Given the description of an element on the screen output the (x, y) to click on. 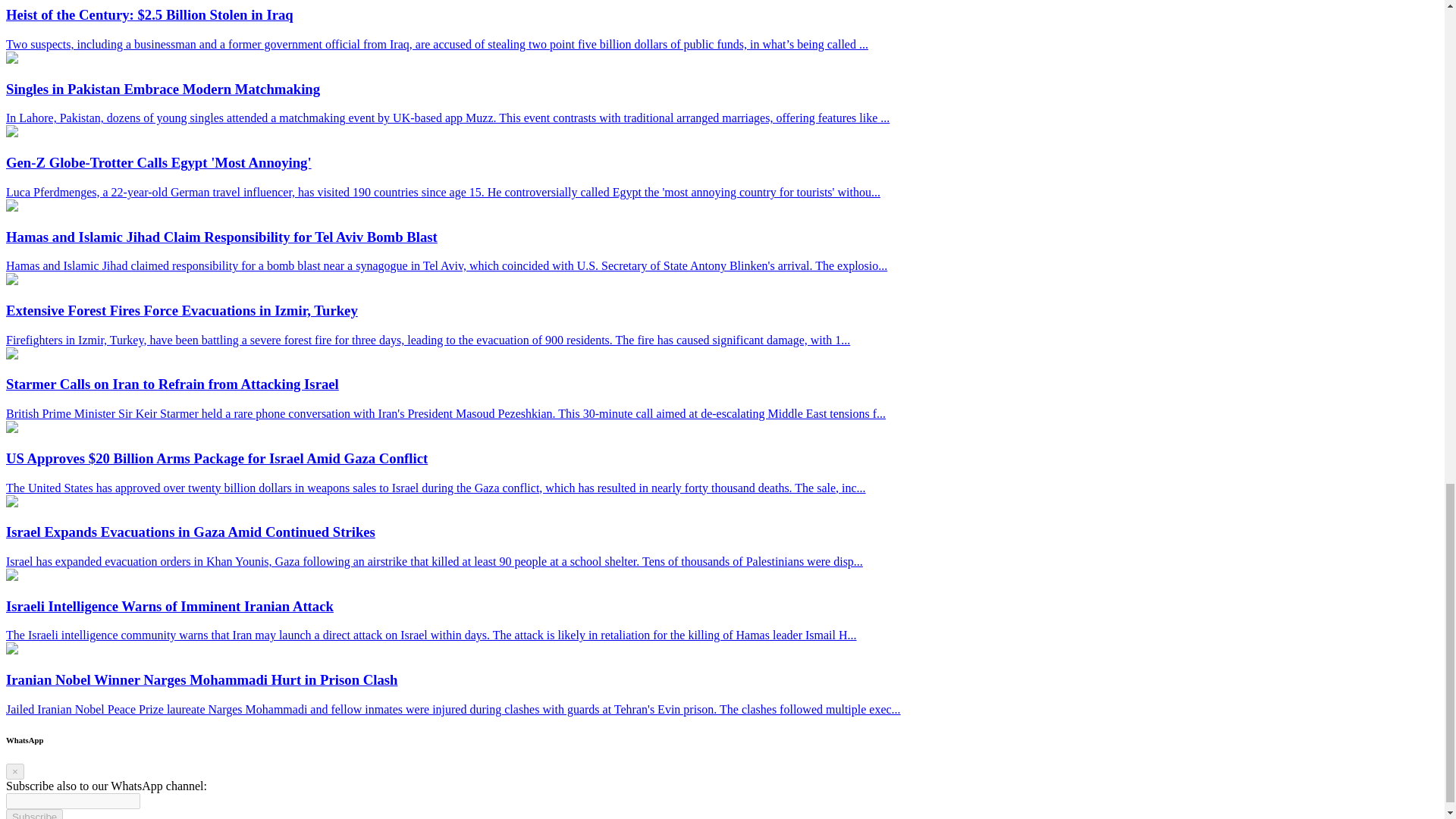
Singles in Pakistan Embrace Modern Matchmaking (11, 59)
Starmer Calls on Iran to Refrain from Attacking Israel (11, 354)
Israel Expands Evacuations in Gaza Amid Continued Strikes (11, 502)
Gen-Z Globe-Trotter Calls Egypt 'Most Annoying' (11, 132)
Extensive Forest Fires Force Evacuations in Izmir, Turkey (11, 280)
